Given the description of an element on the screen output the (x, y) to click on. 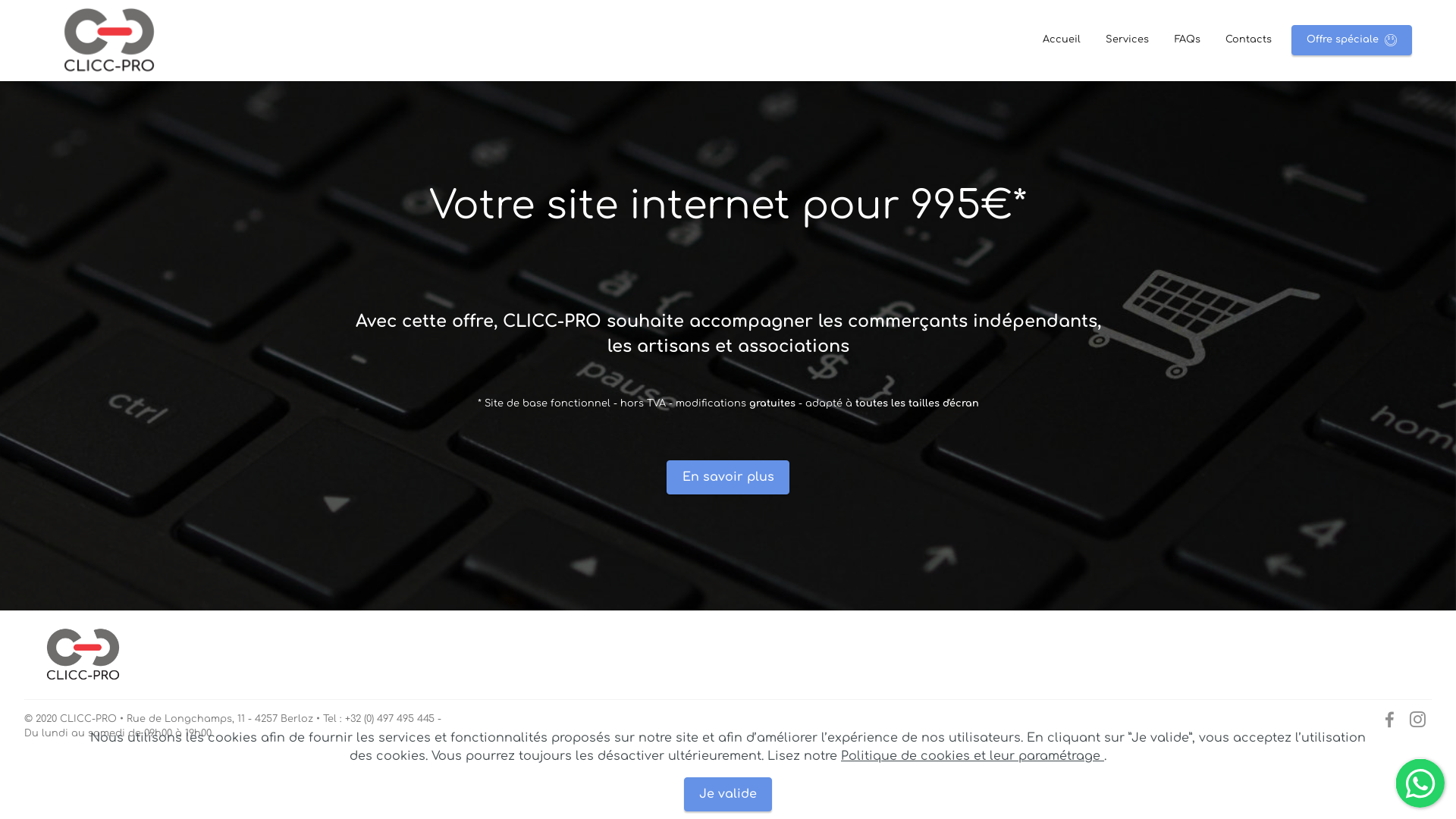
En savoir plus Element type: text (727, 477)
Contacts Element type: text (1248, 39)
Je valide Element type: text (727, 794)
Accueil Element type: text (1061, 39)
Services Element type: text (1126, 39)
FAQs Element type: text (1187, 39)
